Given the description of an element on the screen output the (x, y) to click on. 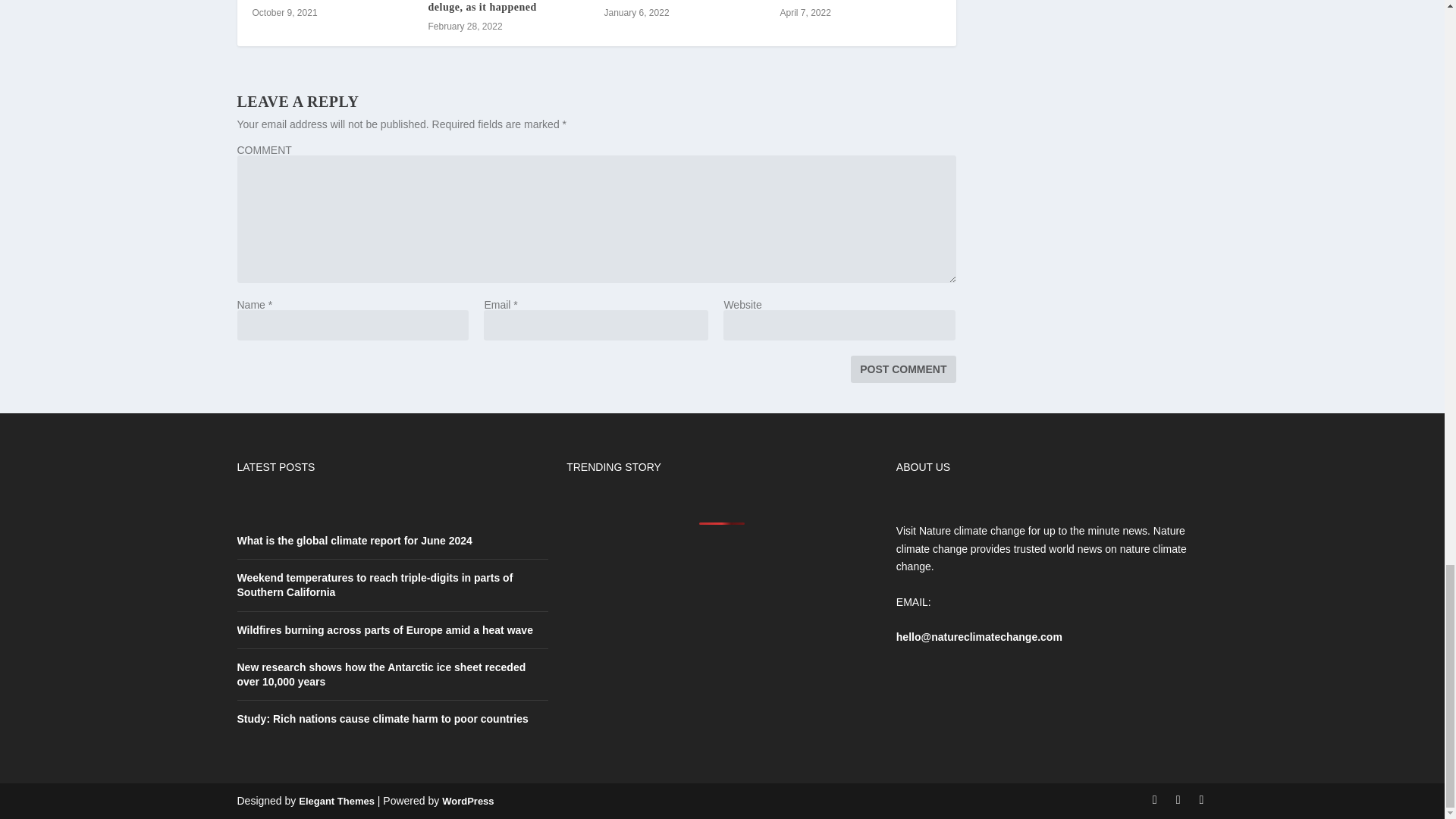
Post Comment (902, 369)
